Given the description of an element on the screen output the (x, y) to click on. 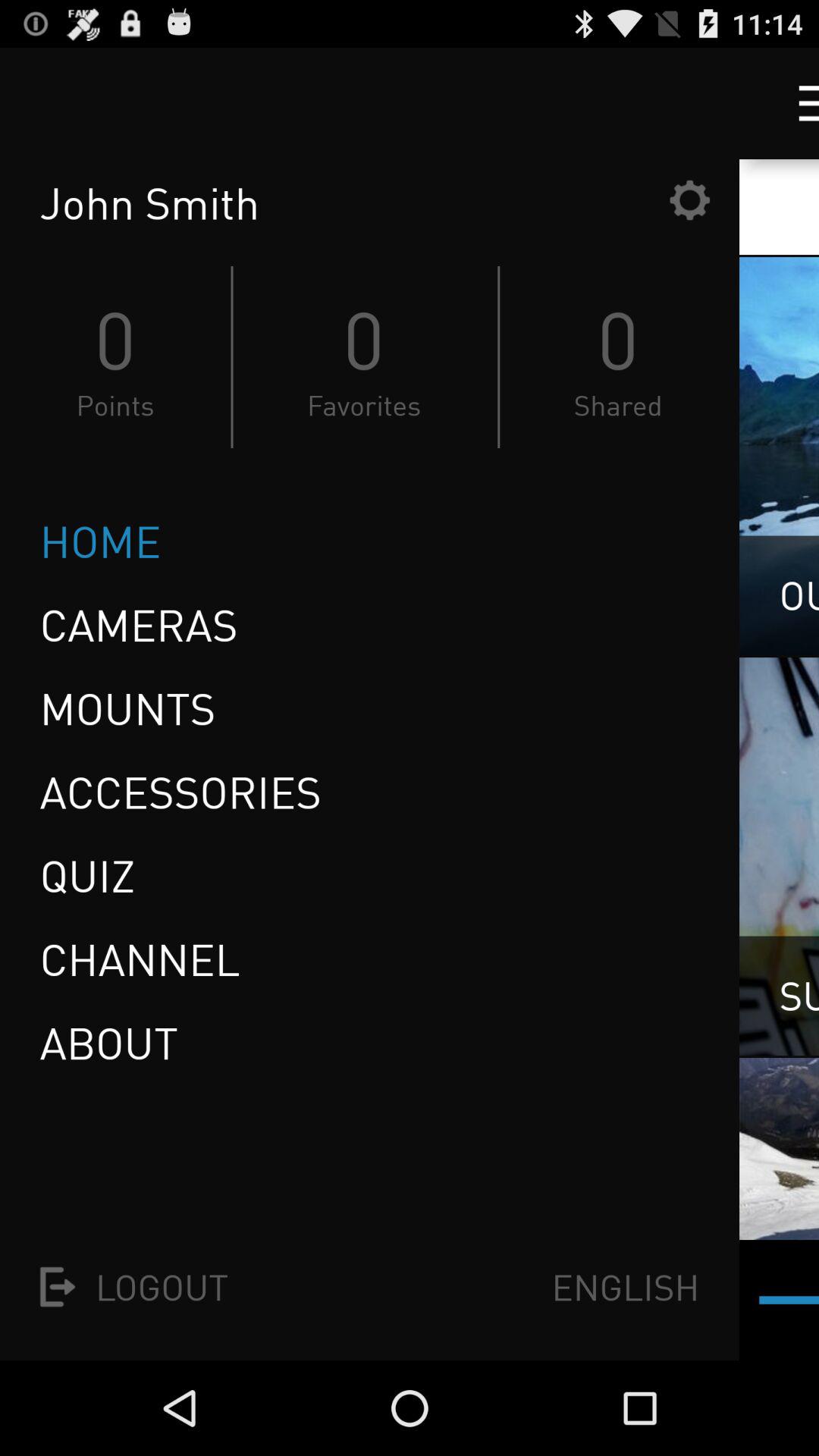
swipe until the channel item (139, 959)
